Given the description of an element on the screen output the (x, y) to click on. 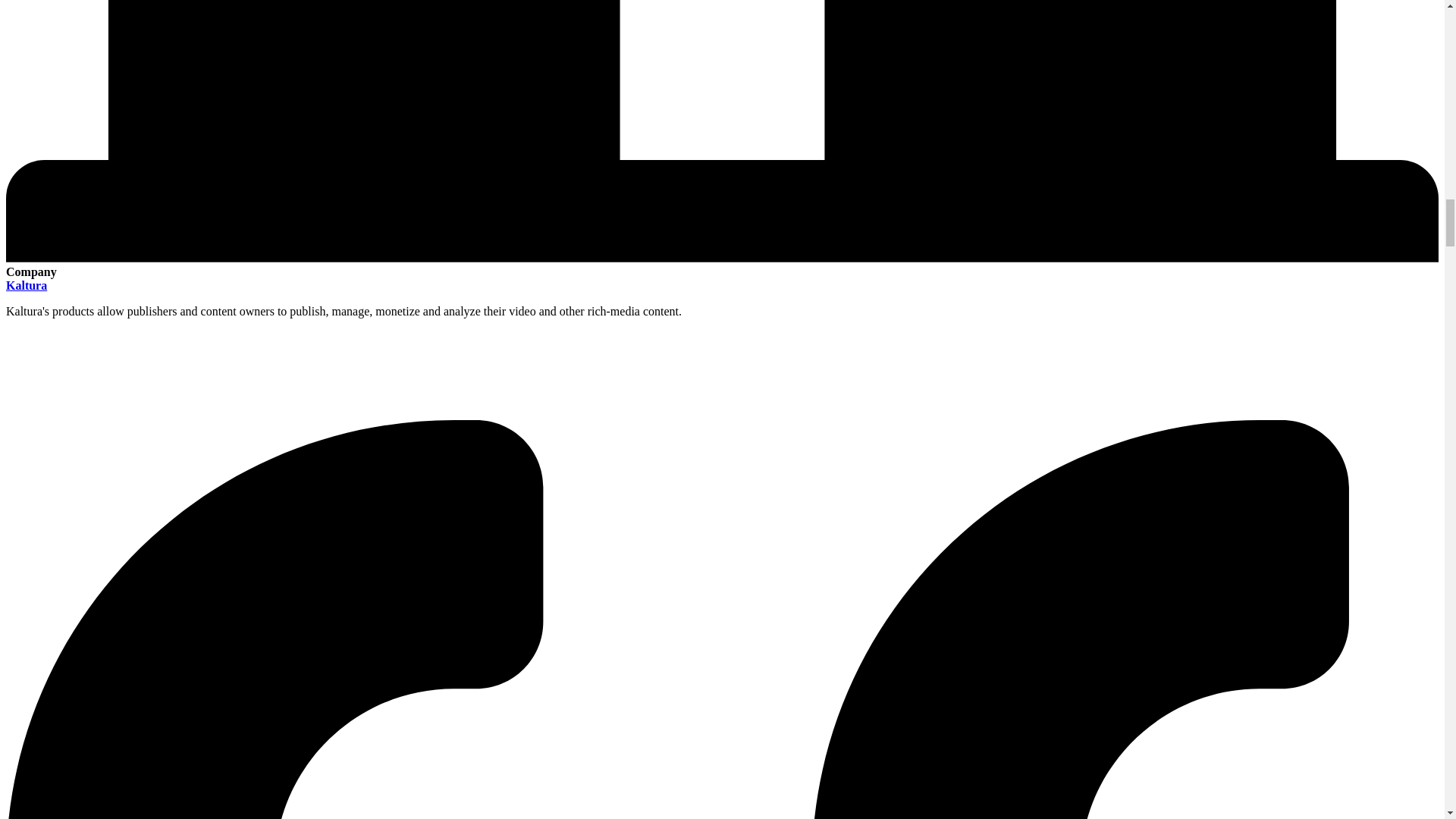
Kaltura (25, 285)
